Given the description of an element on the screen output the (x, y) to click on. 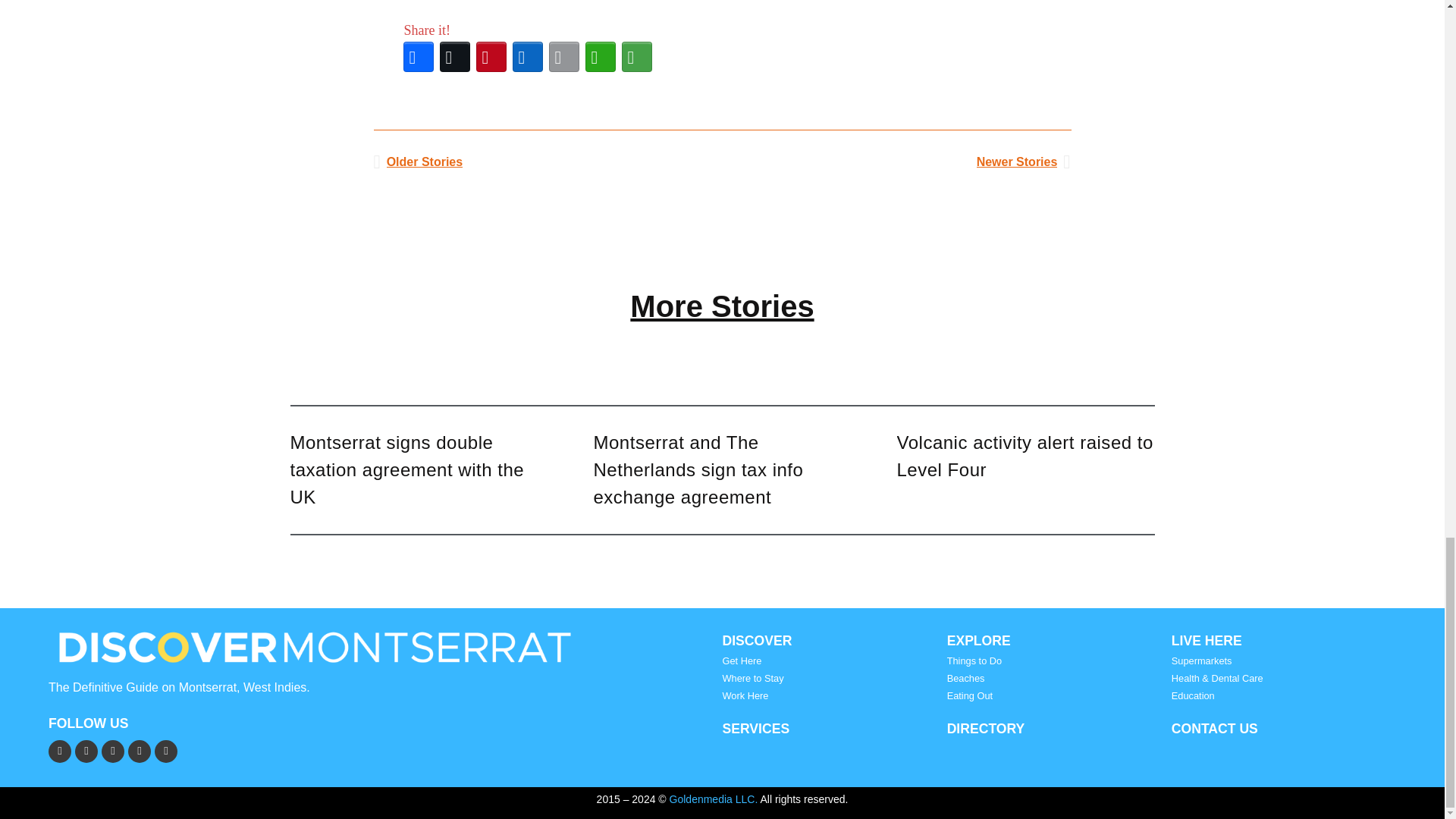
LinkedIn (527, 56)
Facebook (418, 56)
Pinterest (491, 56)
Email This (564, 56)
